Given the description of an element on the screen output the (x, y) to click on. 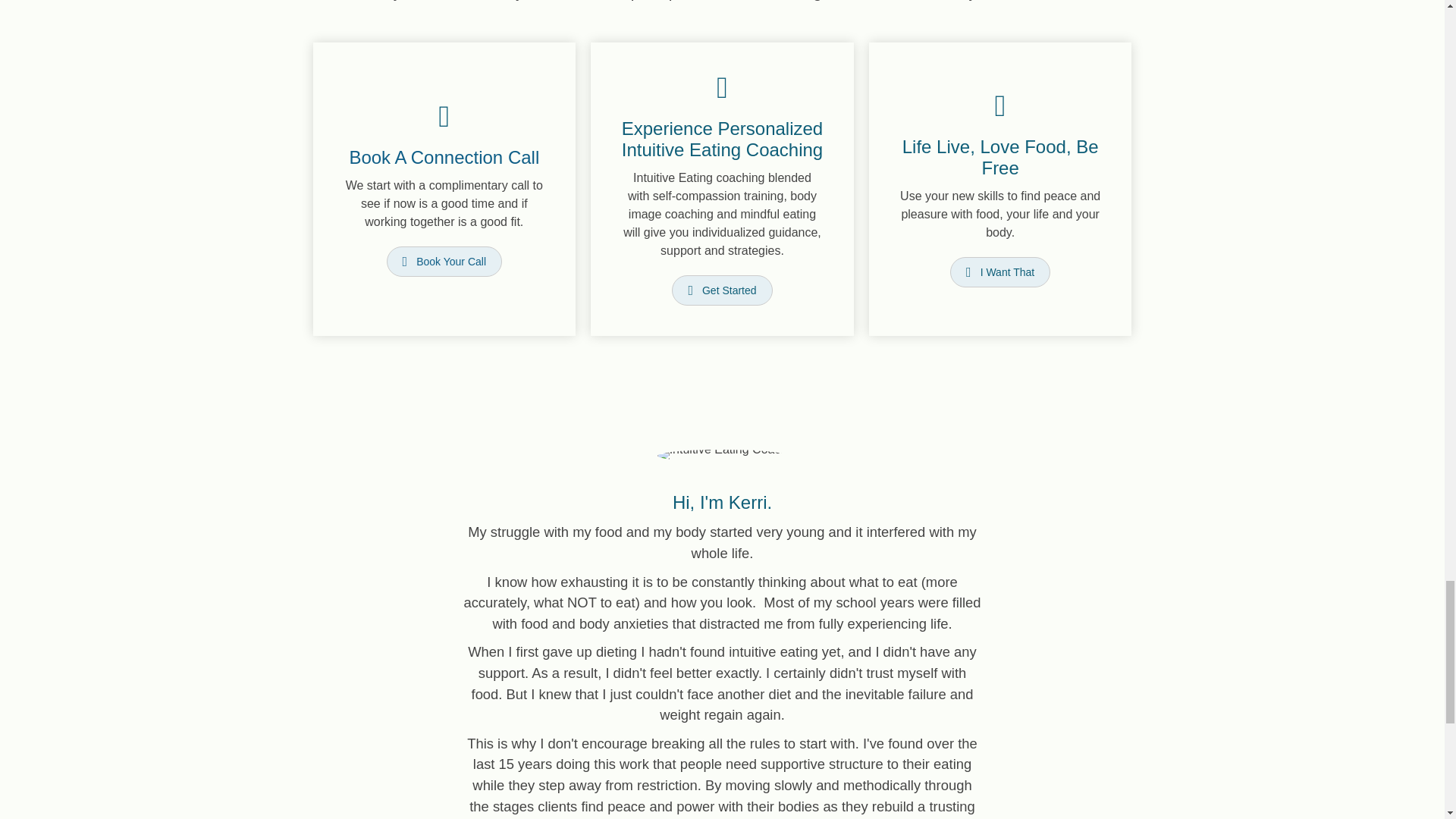
Get Started (721, 290)
Book Your Call (444, 261)
Book A Connection Call (443, 157)
Life Live, Love Food, Be Free (1000, 157)
I Want That (999, 272)
Experience Personalized Intuitive Eating Coaching (722, 138)
Intuitive Eating Coach (722, 455)
